Given the description of an element on the screen output the (x, y) to click on. 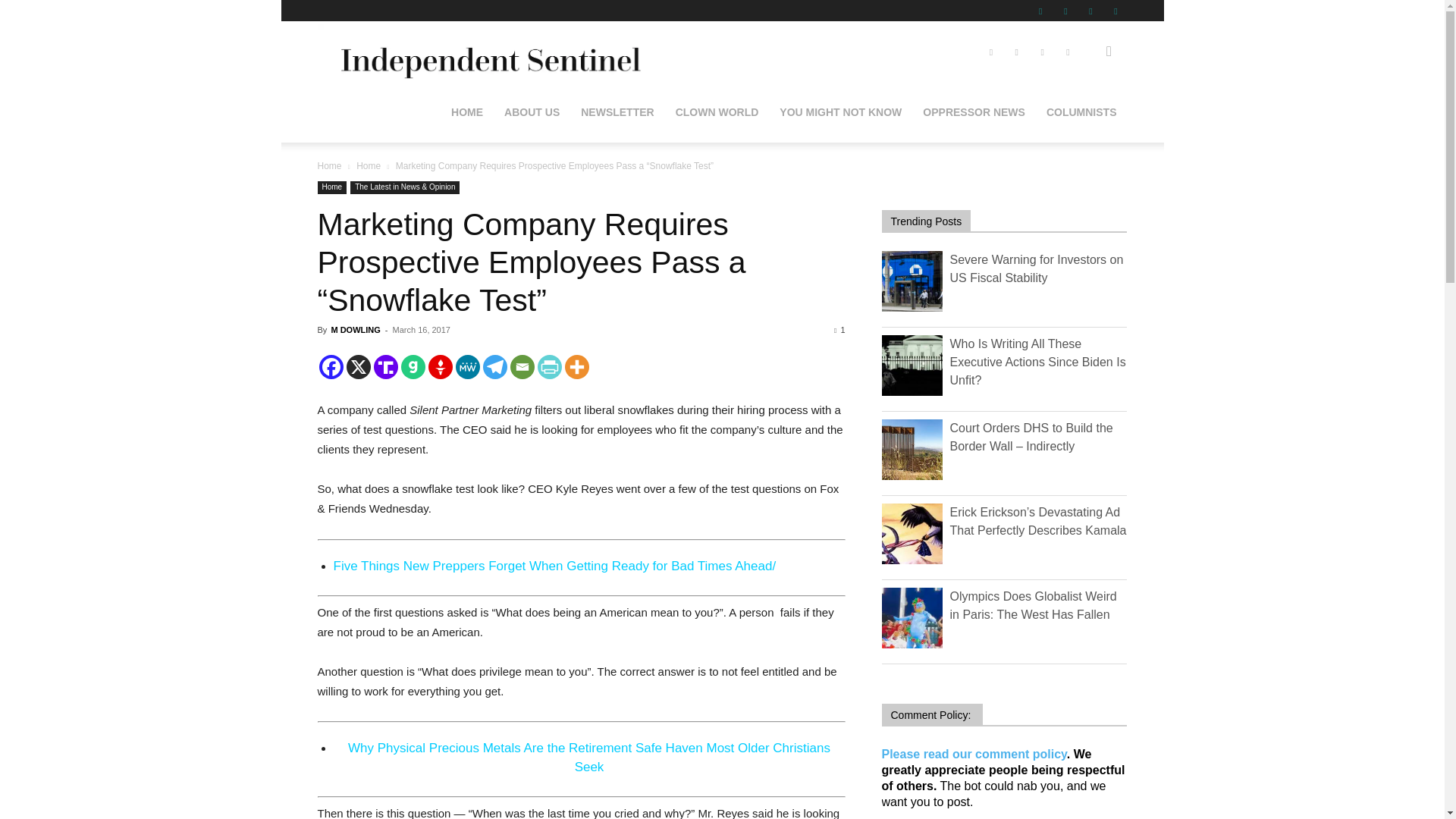
Facebook (1040, 10)
NEWSLETTER (616, 111)
Twitter (1090, 10)
Youtube (1114, 10)
ABOUT US (531, 111)
YOU MIGHT NOT KNOW (840, 111)
Search (1085, 124)
CLOWN WORLD (717, 111)
Pinterest (1065, 10)
www.independentsentinel.com (487, 51)
OPPRESSOR NEWS (973, 111)
